Given the description of an element on the screen output the (x, y) to click on. 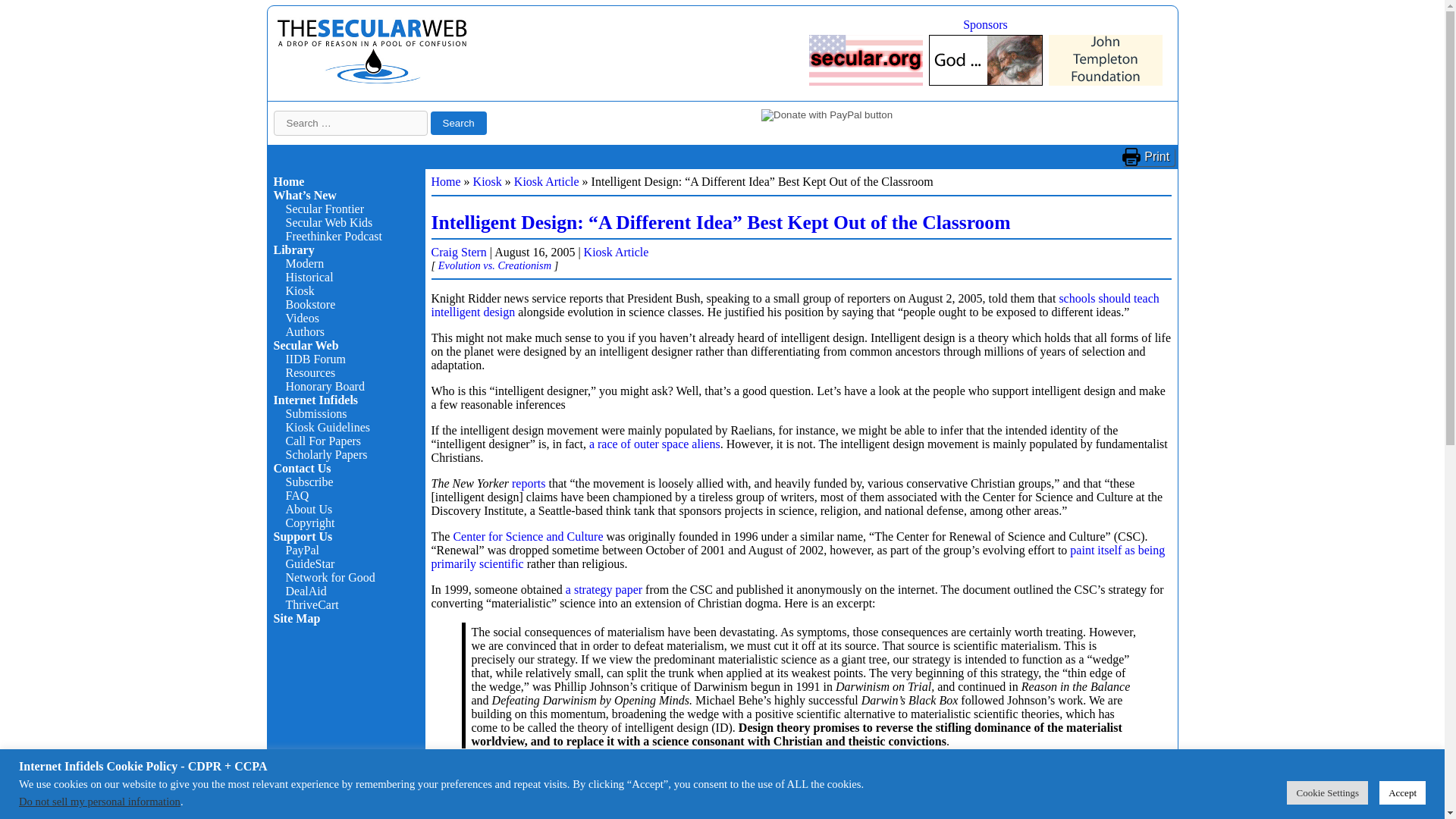
Support Us (302, 535)
Print (1147, 157)
DealAid (305, 590)
Kiosk Guidelines (327, 427)
Videos (301, 318)
Historical (309, 277)
Search (458, 123)
Bookstore (309, 304)
Network for Good (329, 576)
IIDB Forum (315, 358)
Copyright (309, 522)
GuideStar (309, 563)
Search (458, 123)
Honorary Board (324, 386)
Scholarly Papers (325, 454)
